Given the description of an element on the screen output the (x, y) to click on. 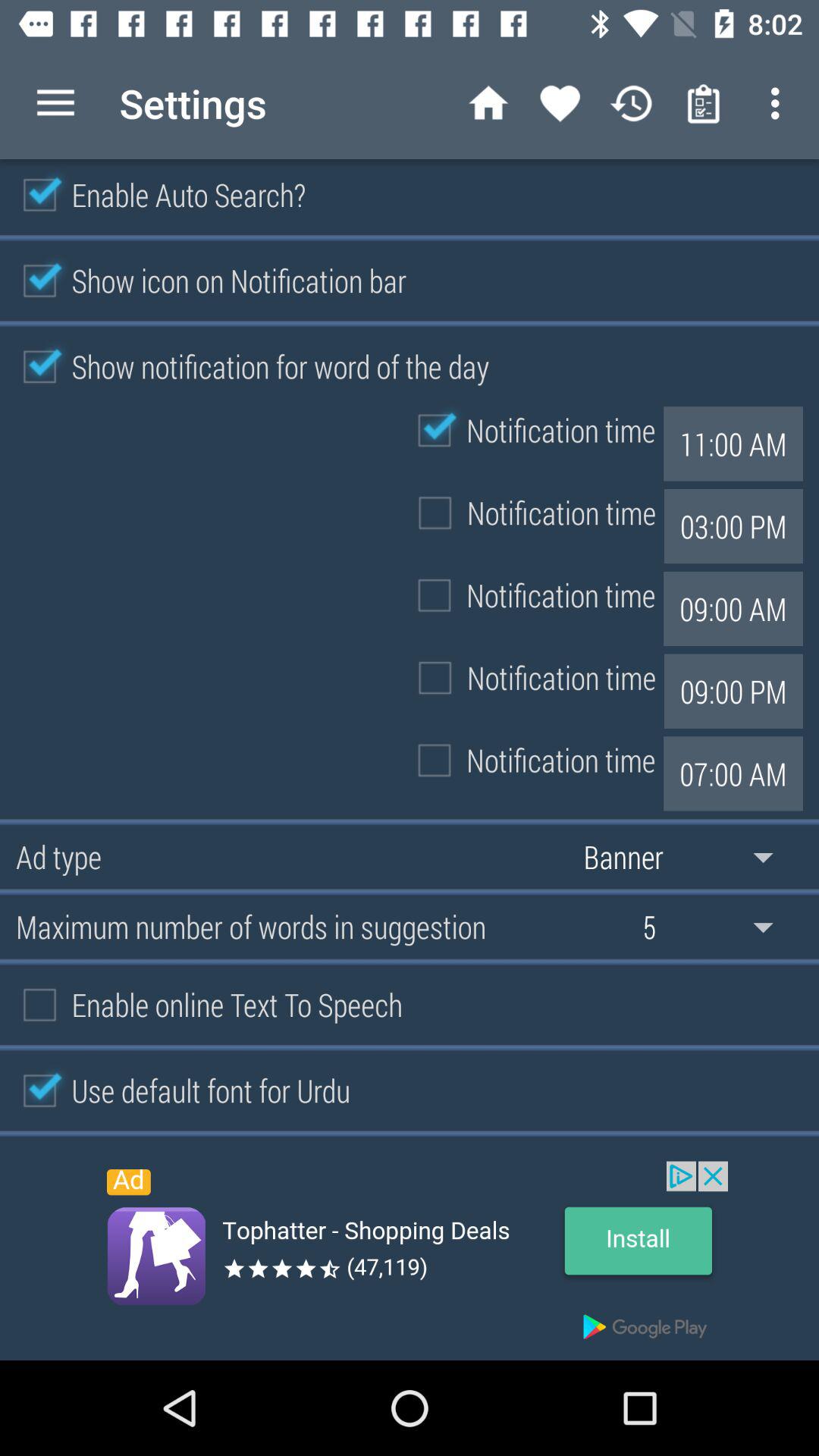
click on the second drop down button along with the number 5 (719, 926)
click the option enable online text to speech on the web page (205, 1004)
click on banner (689, 856)
select the check box notification time on left to the button 0700 am on the web page (529, 760)
